Given the description of an element on the screen output the (x, y) to click on. 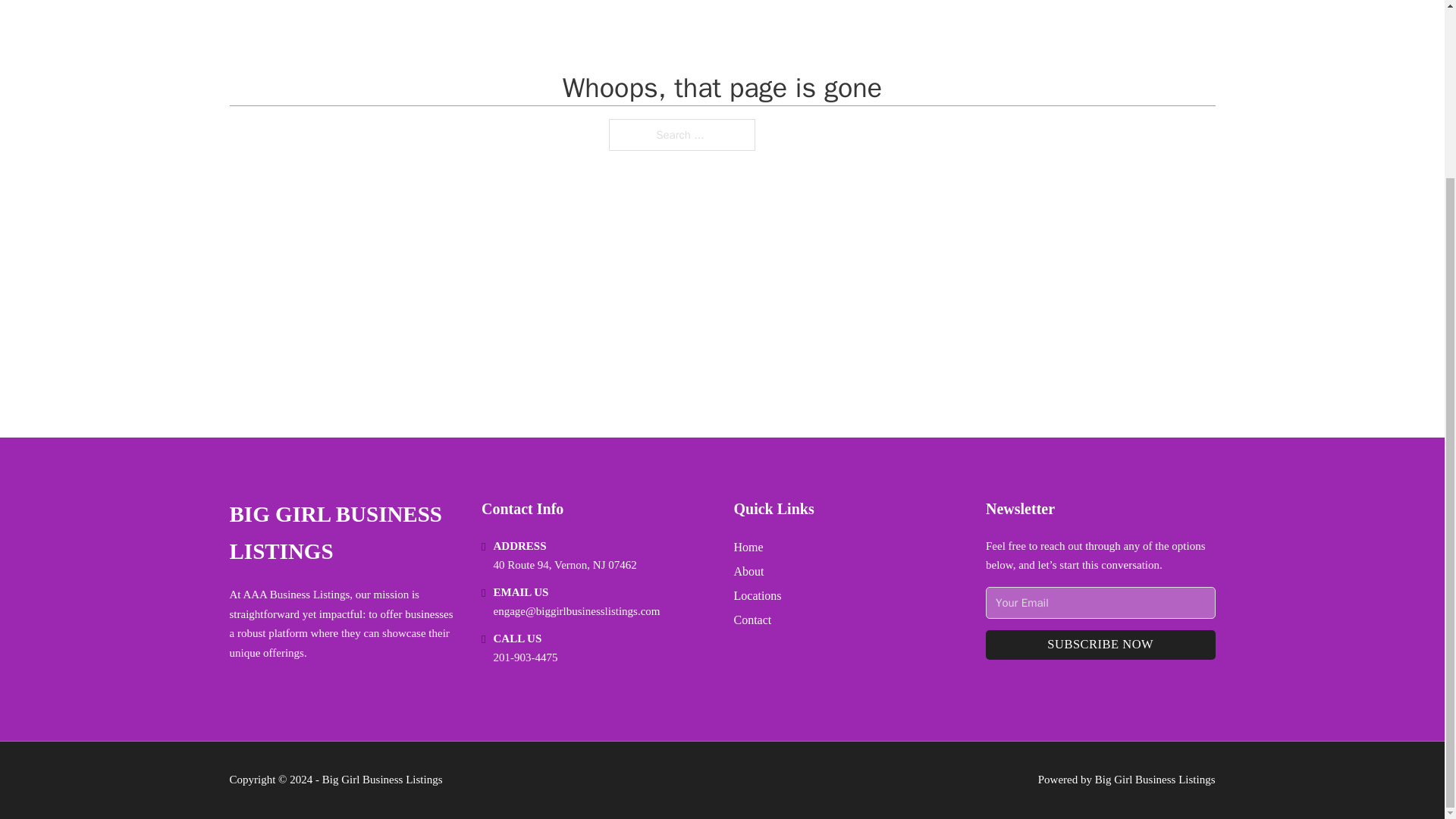
BIG GIRL BUSINESS LISTINGS (343, 533)
About (748, 571)
Home (747, 547)
SUBSCRIBE NOW (1100, 644)
201-903-4475 (525, 657)
Locations (757, 595)
Contact (752, 619)
